Given the description of an element on the screen output the (x, y) to click on. 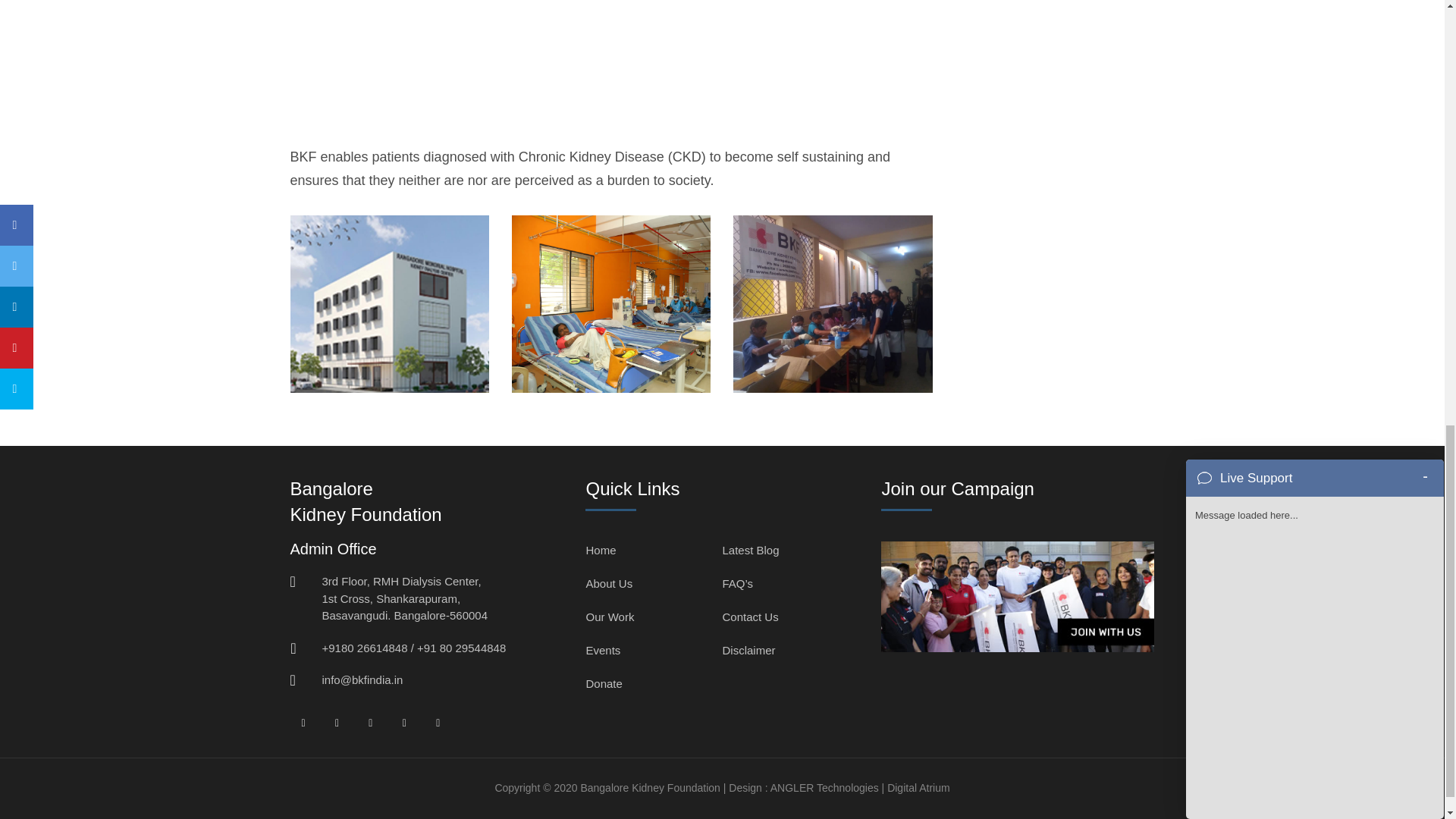
About (611, 304)
About (832, 304)
About (388, 304)
